Given the description of an element on the screen output the (x, y) to click on. 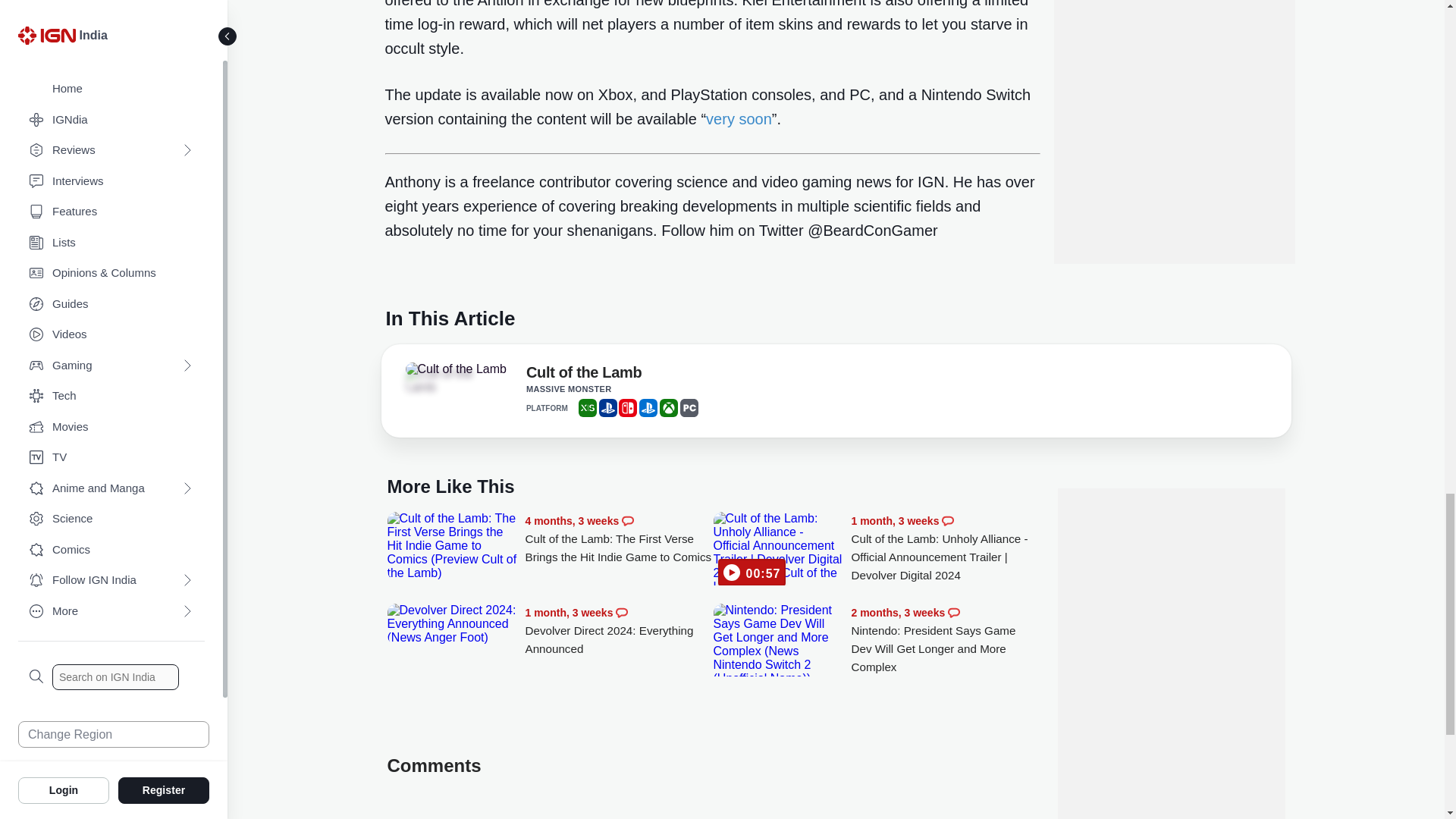
Devolver Direct 2024: Everything Announced (451, 623)
Cult of the Lamb (454, 368)
Cult of the Lamb (583, 374)
Devolver Direct 2024: Everything Announced (618, 631)
Cult of the Lamb (448, 379)
